Given the description of an element on the screen output the (x, y) to click on. 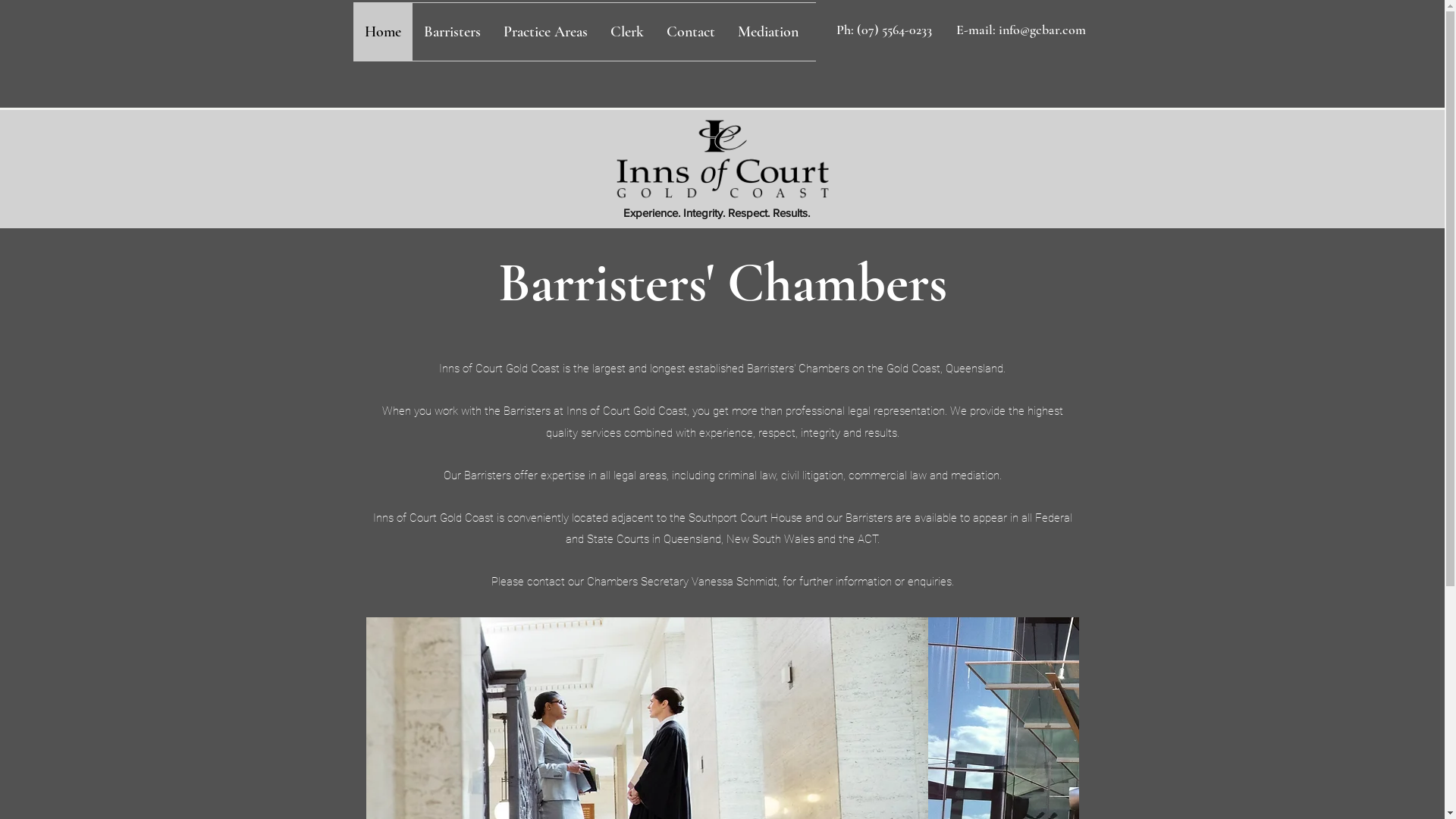
Clerk Element type: text (627, 31)
Barristers Element type: text (452, 31)
Contact Element type: text (690, 31)
Practice Areas Element type: text (544, 31)
Home Element type: text (382, 31)
(07) 5564-0233 Element type: text (893, 29)
Mediation Element type: text (767, 31)
info@gcbar.com Element type: text (1041, 29)
